Given the description of an element on the screen output the (x, y) to click on. 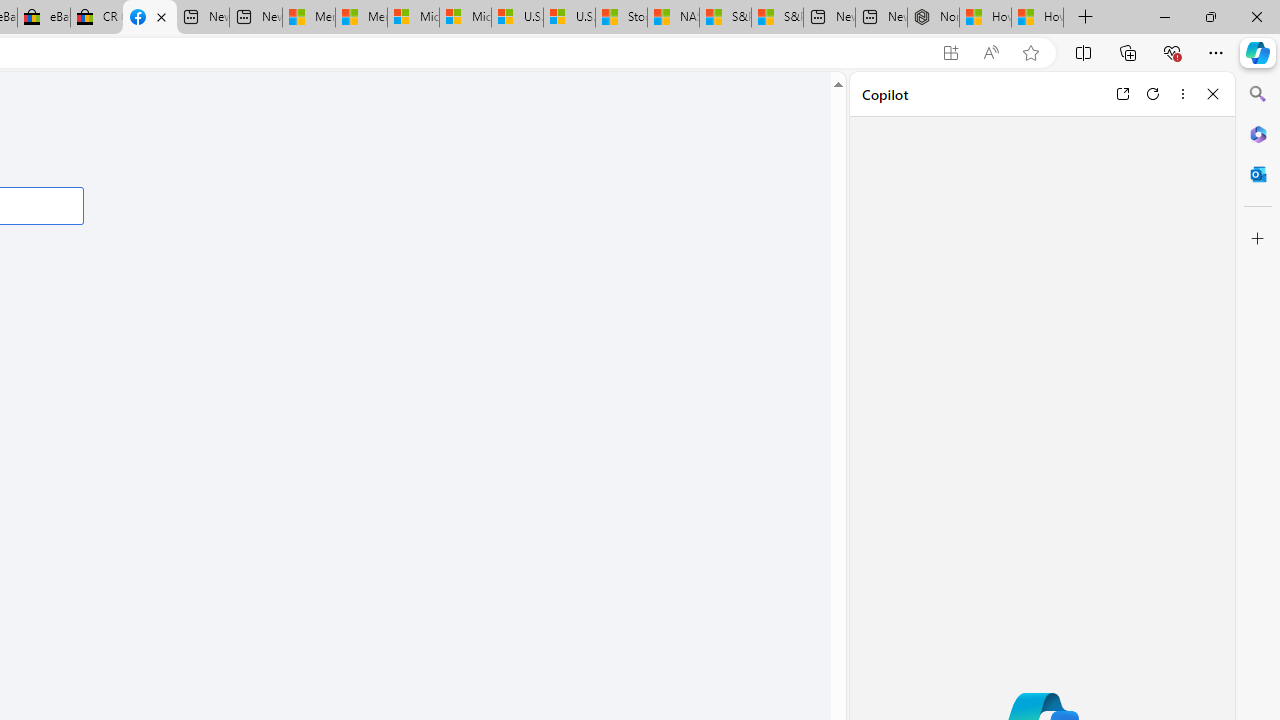
Microsoft 365 (1258, 133)
S&P 500, Nasdaq end lower, weighed by Nvidia dip | Watch (776, 17)
Outlook (1258, 174)
Customize (1258, 239)
